Given the description of an element on the screen output the (x, y) to click on. 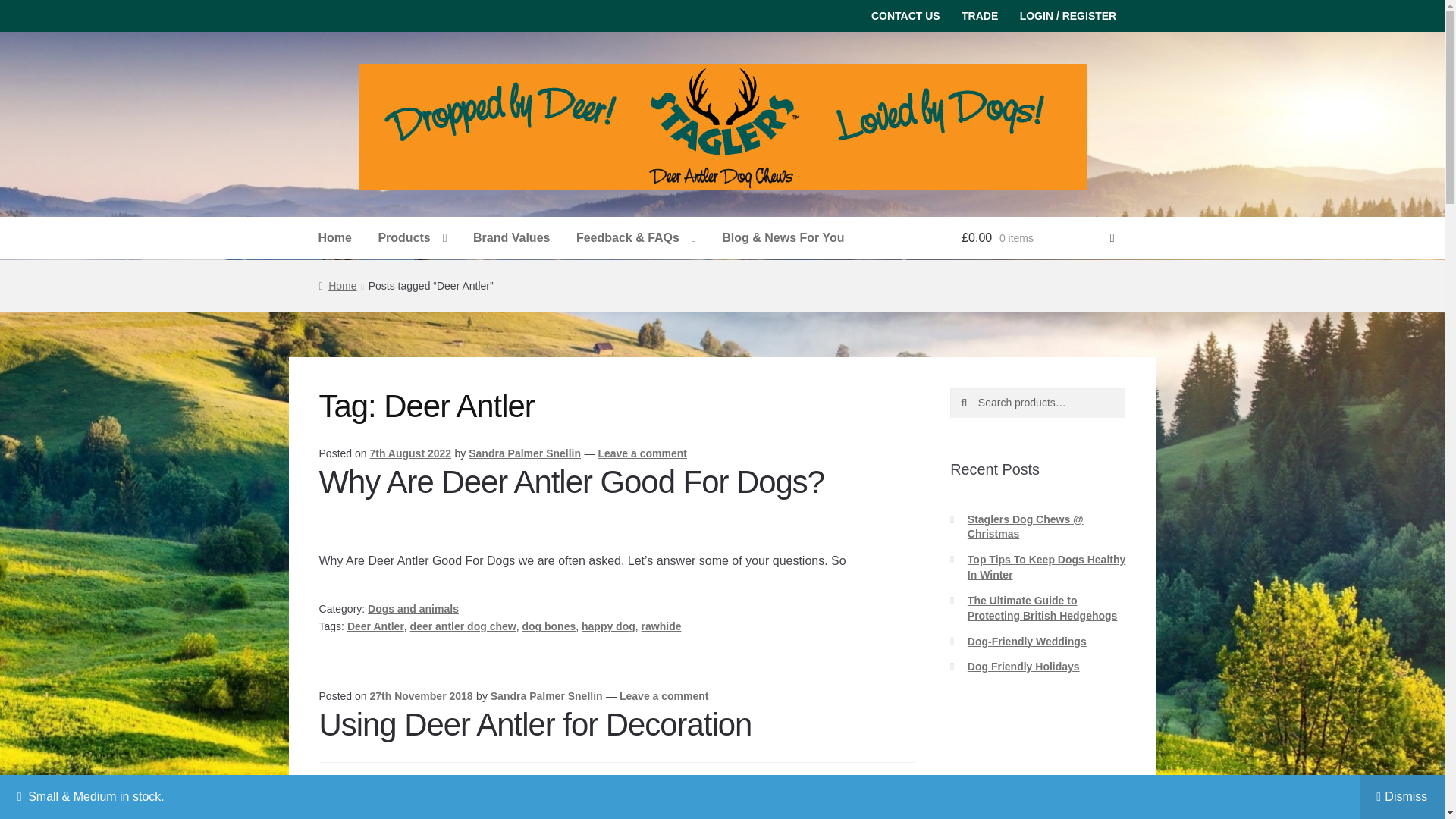
Home (334, 238)
CONTACT US (905, 15)
Brand Values (510, 238)
Products (412, 238)
View your shopping basket (1037, 238)
TRADE (979, 15)
